Given the description of an element on the screen output the (x, y) to click on. 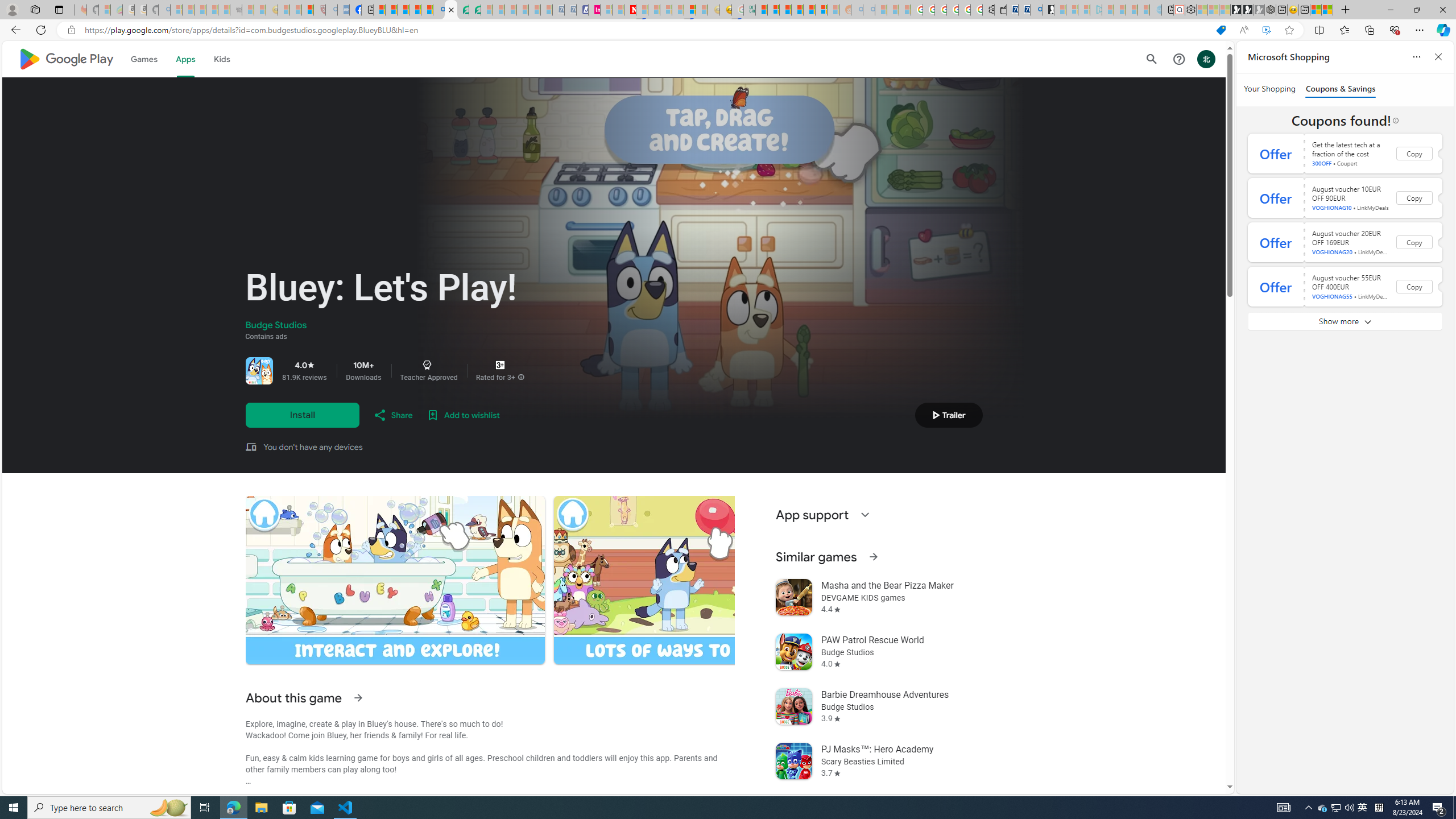
Terms of Use Agreement (462, 9)
Microsoft Word - consumer-privacy address update 2.2021 (475, 9)
Class: ULeU3b Utde2e (703, 580)
